Given the description of an element on the screen output the (x, y) to click on. 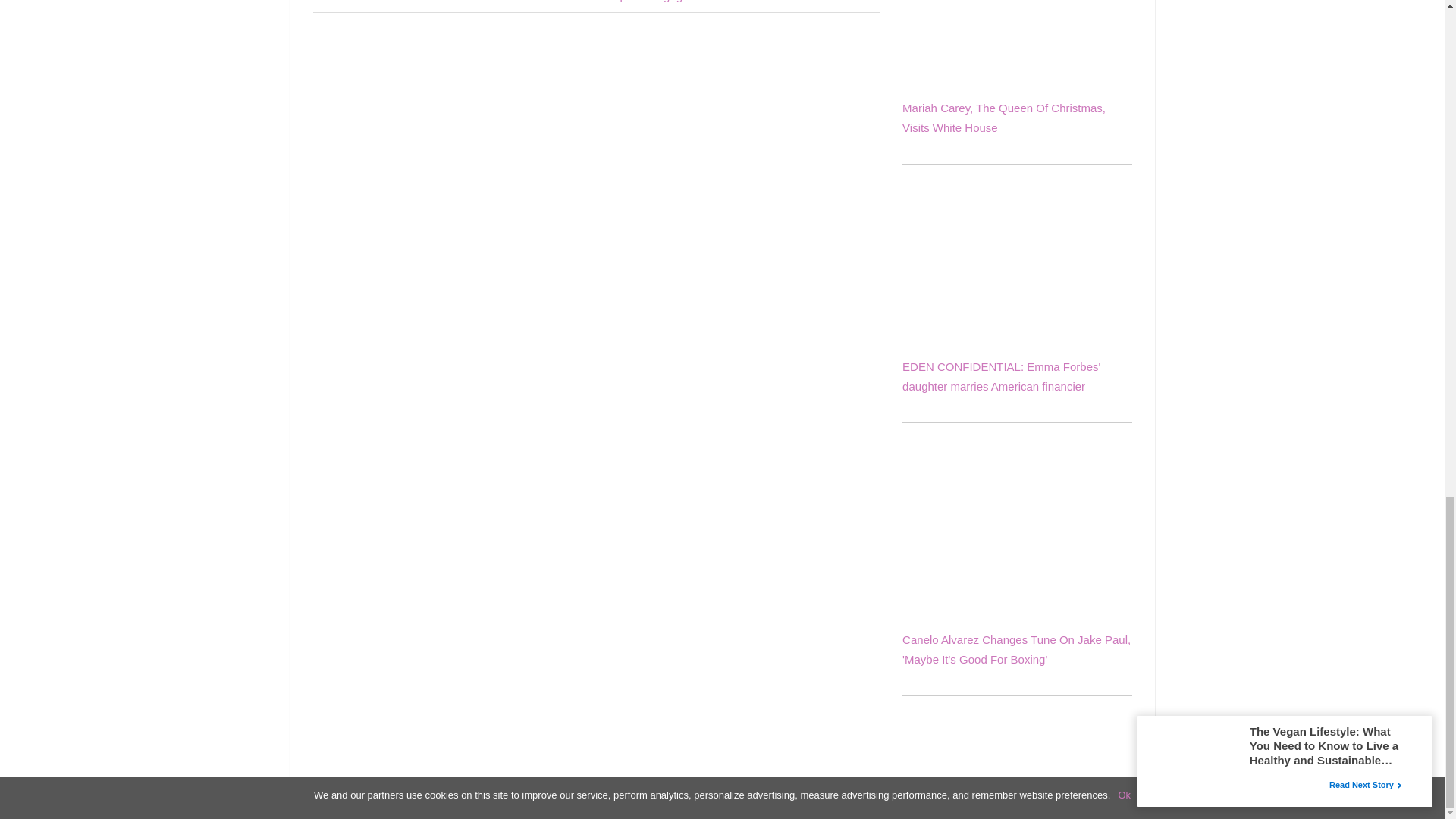
Mariah Carey, The Queen Of Christmas, Visits White House (1003, 117)
